Given the description of an element on the screen output the (x, y) to click on. 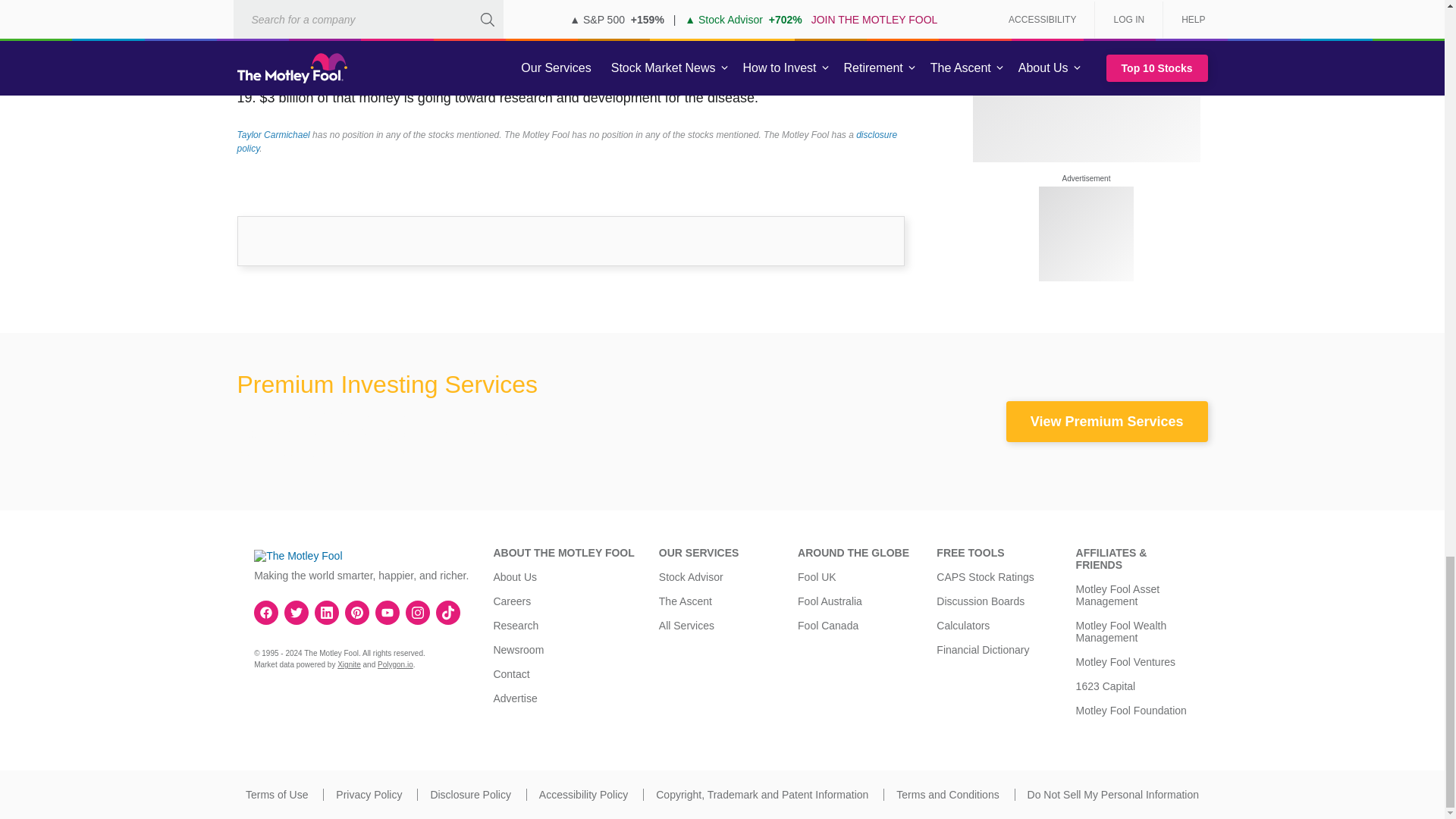
Terms of Use (276, 794)
Do Not Sell My Personal Information. (1112, 794)
Terms and Conditions (947, 794)
Privacy Policy (368, 794)
Disclosure Policy (470, 794)
Accessibility Policy (582, 794)
Copyright, Trademark and Patent Information (761, 794)
